Given the description of an element on the screen output the (x, y) to click on. 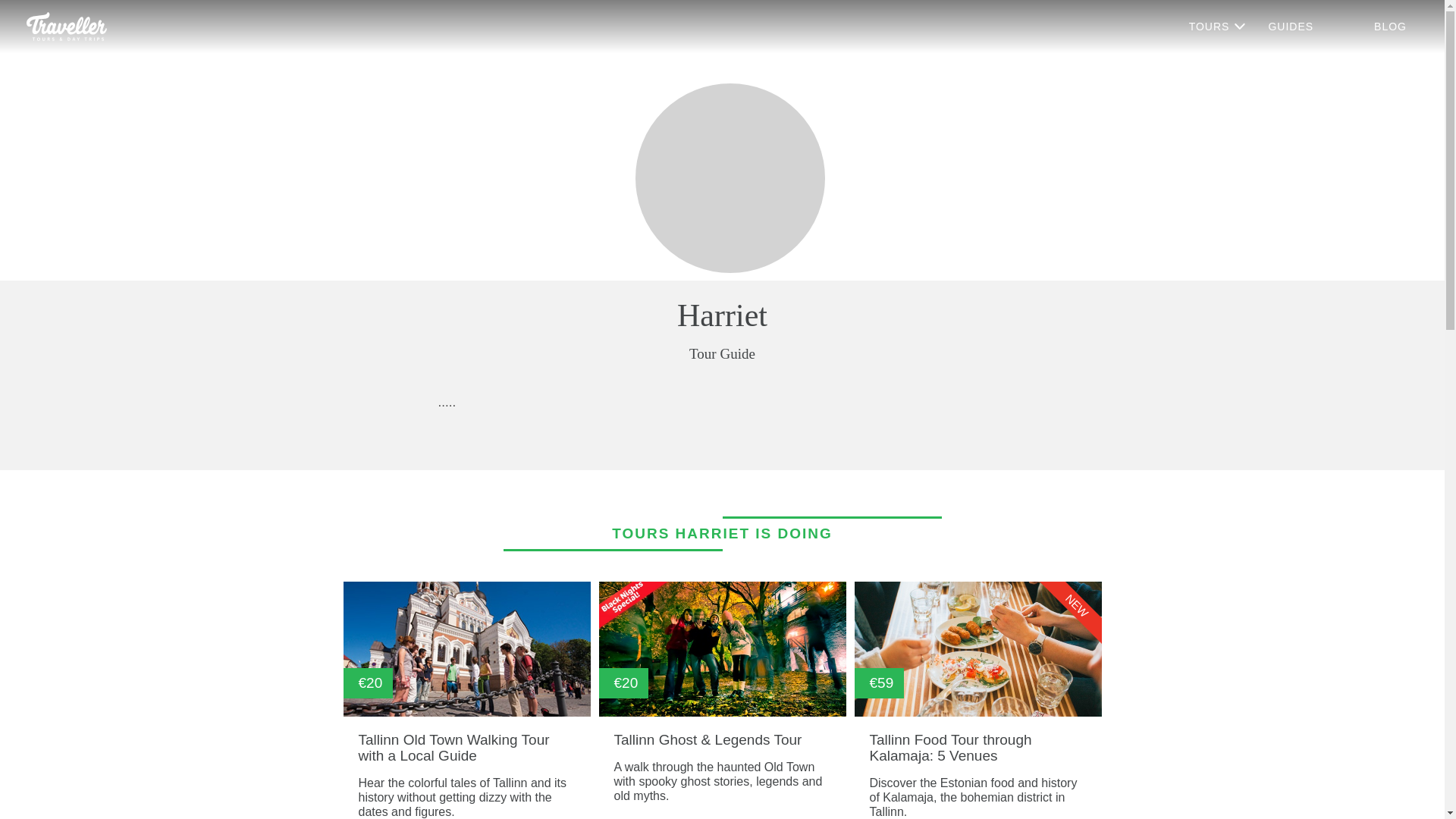
BLOG (1390, 26)
TOURS (1217, 26)
GUIDES (1290, 26)
